Given the description of an element on the screen output the (x, y) to click on. 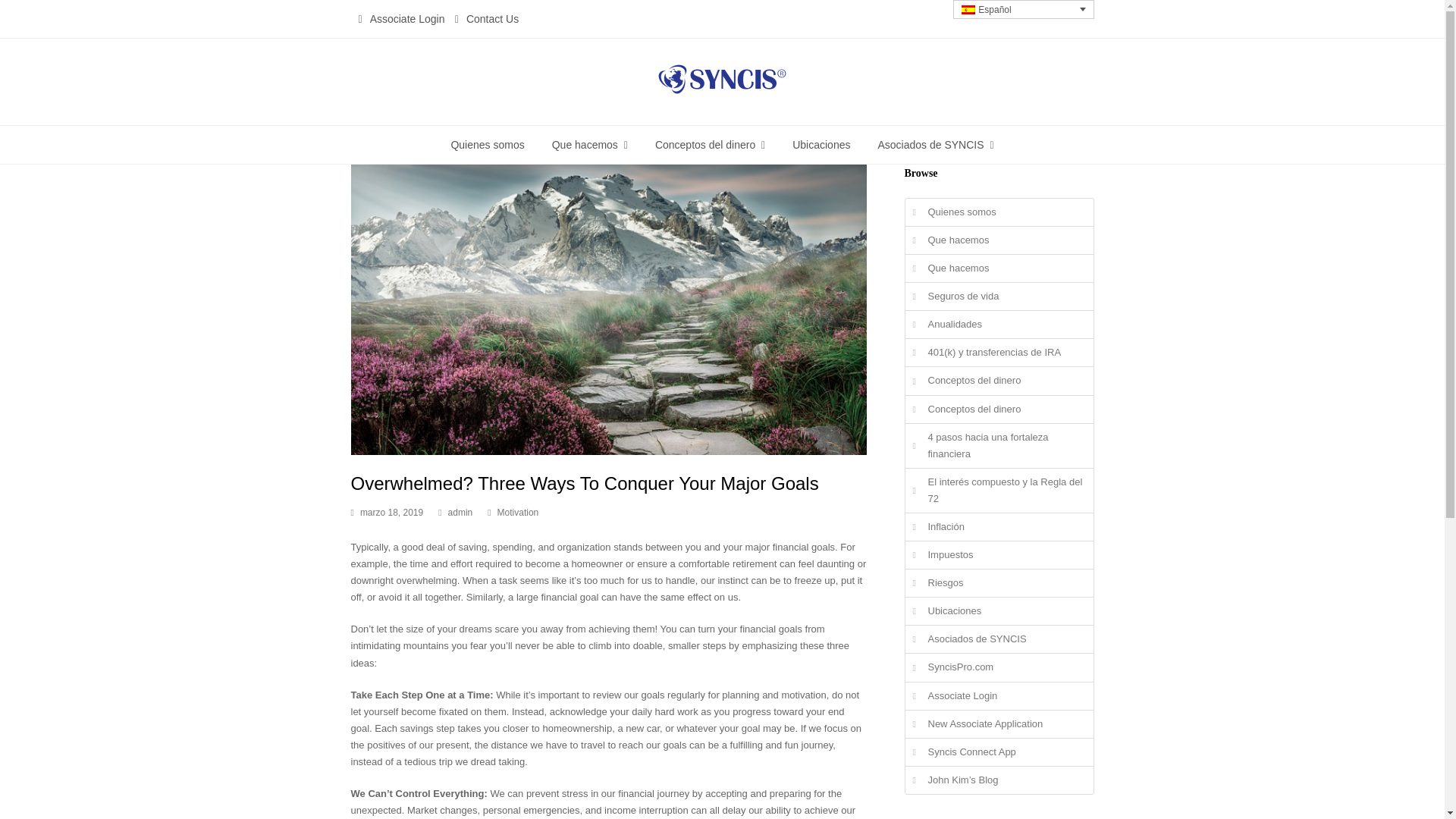
Seguros de vida (999, 296)
Que hacemos (590, 144)
Ubicaciones (821, 144)
Entradas de admin (460, 511)
Que hacemos (999, 239)
Asociados de SYNCIS (935, 144)
Conceptos del dinero (710, 144)
Quienes somos (487, 144)
Que hacemos (999, 267)
Conceptos del dinero (999, 379)
Contact Us (491, 19)
admin (460, 511)
Associate Login (407, 19)
Quienes somos (999, 212)
Anualidades (999, 324)
